Given the description of an element on the screen output the (x, y) to click on. 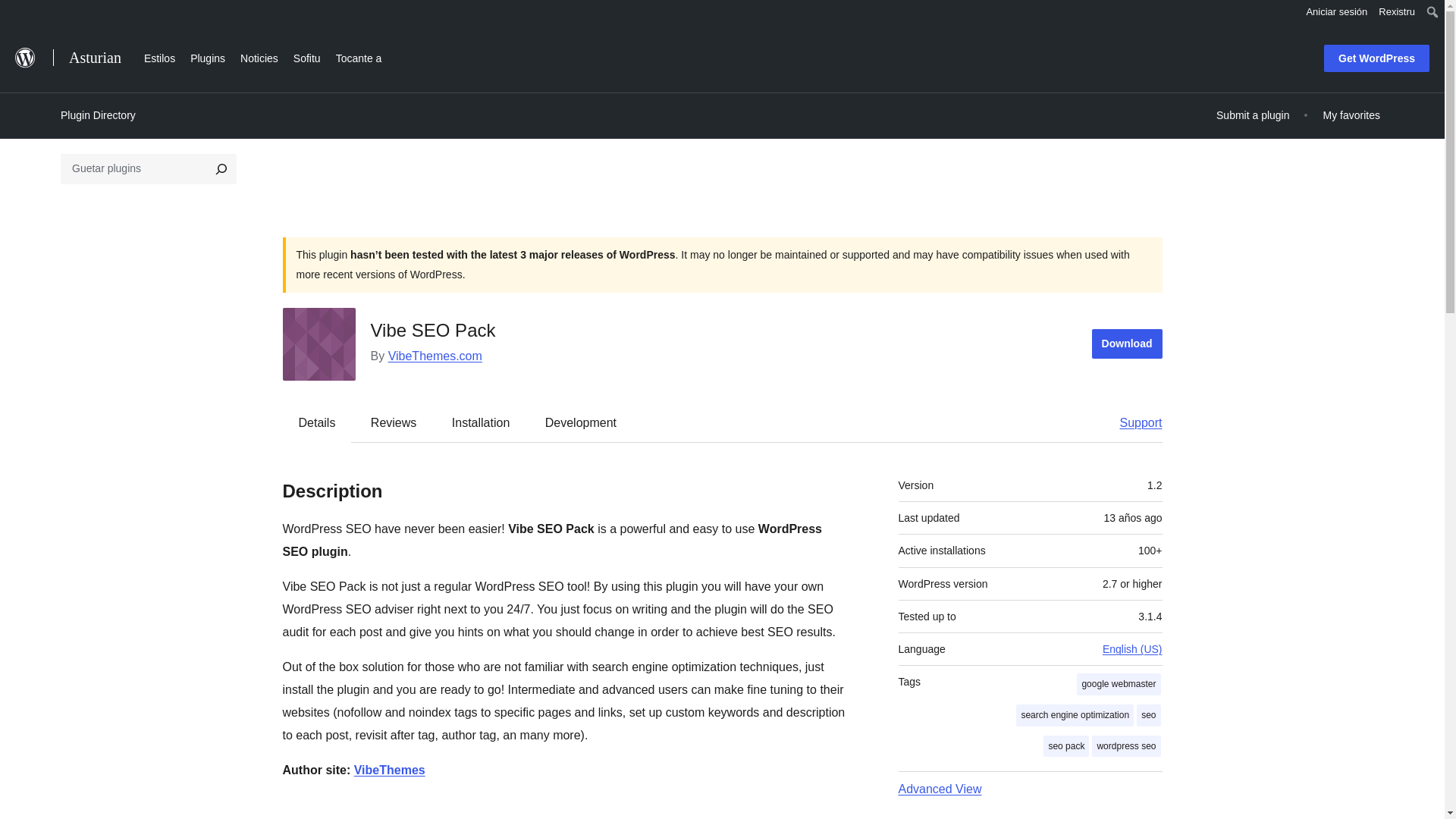
My favorites (1351, 115)
Plugin Directory (97, 115)
Reviews (392, 422)
Details (316, 422)
Rexistru (1397, 12)
Development (580, 422)
WordPress SEO (389, 769)
Support (1132, 422)
Submit a plugin (1253, 115)
Download (1126, 344)
Get WordPress (1376, 58)
Installation (480, 422)
VibeThemes.com (434, 355)
VibeThemes (389, 769)
Tocante a (359, 56)
